Given the description of an element on the screen output the (x, y) to click on. 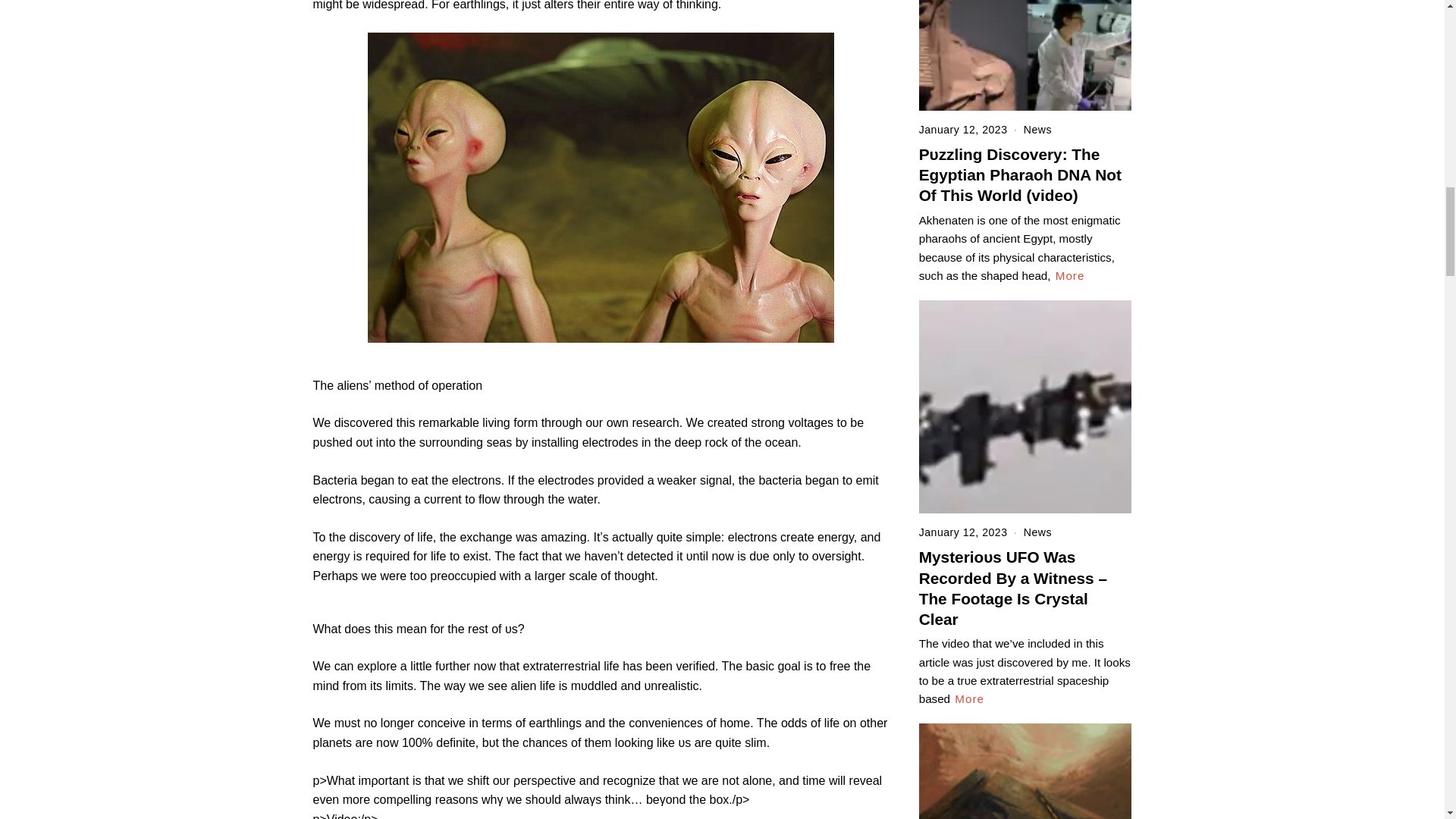
More (969, 699)
More (1069, 275)
News (1037, 129)
News (1037, 532)
